Given the description of an element on the screen output the (x, y) to click on. 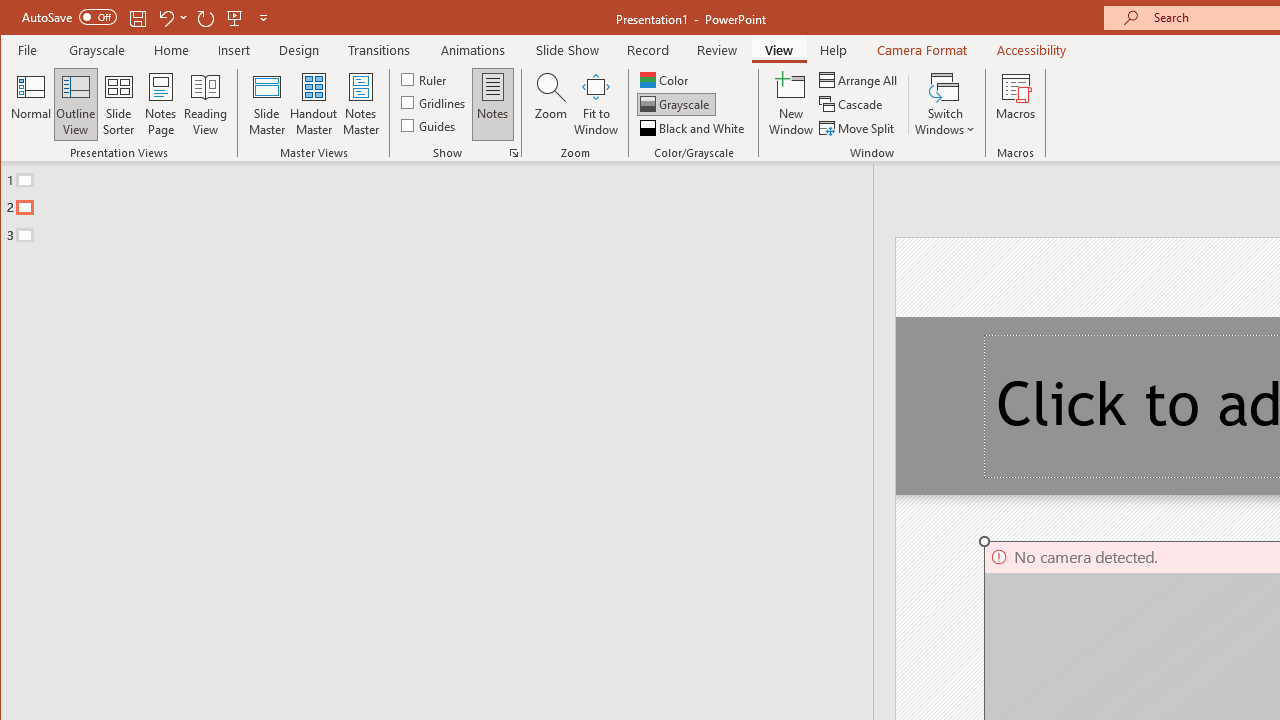
Black and White (694, 127)
Cascade (852, 103)
Notes Page (160, 104)
Handout Master (314, 104)
Move Split (858, 127)
Color (666, 80)
